Given the description of an element on the screen output the (x, y) to click on. 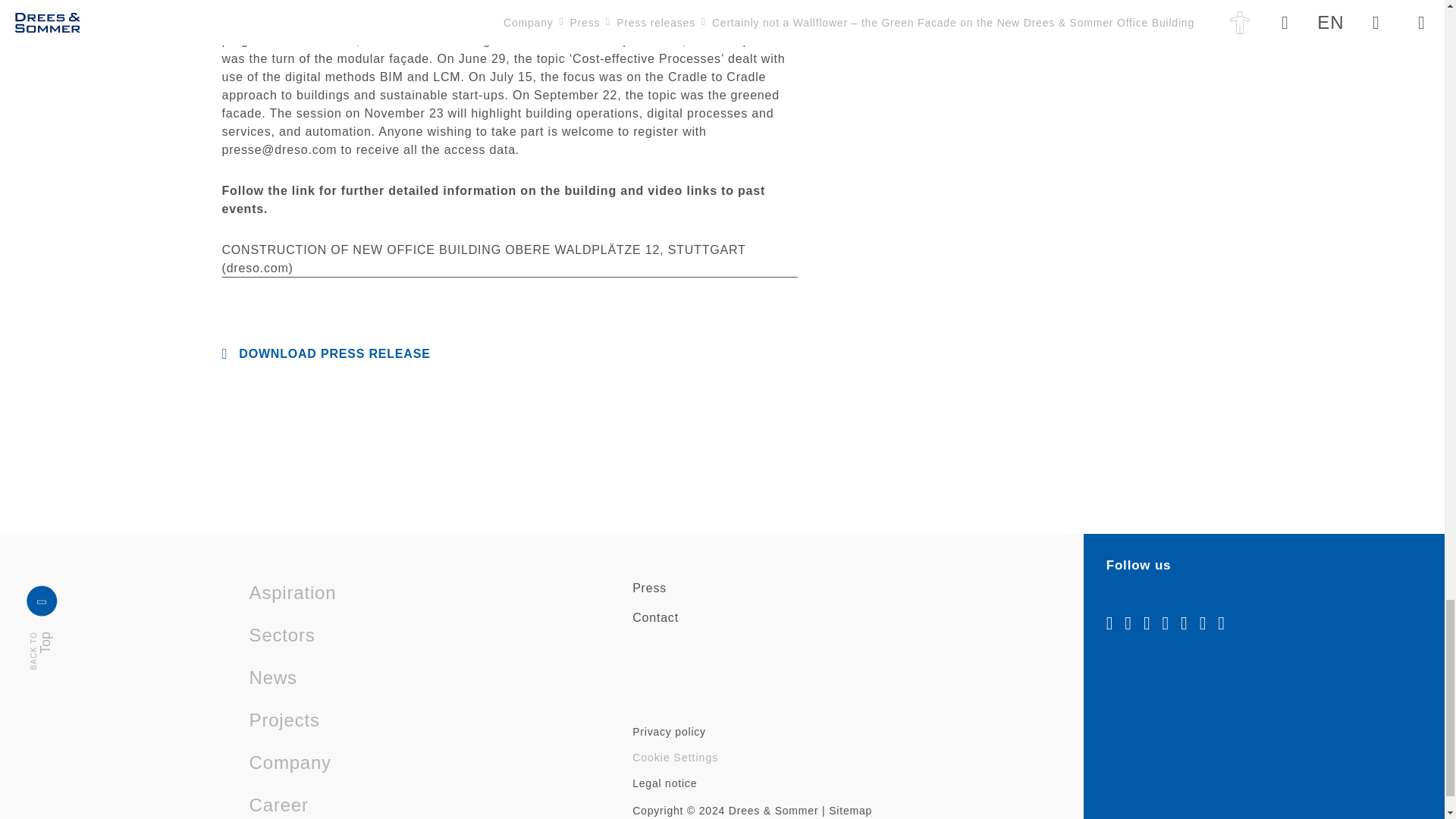
Legal notice (664, 783)
Privacy policy (668, 731)
Aspiration (292, 592)
DOWNLOAD PRESS RELEASE (325, 354)
Cookie Settings (674, 757)
Contact (68, 601)
Press (654, 618)
News (648, 588)
Projects (272, 677)
